Given the description of an element on the screen output the (x, y) to click on. 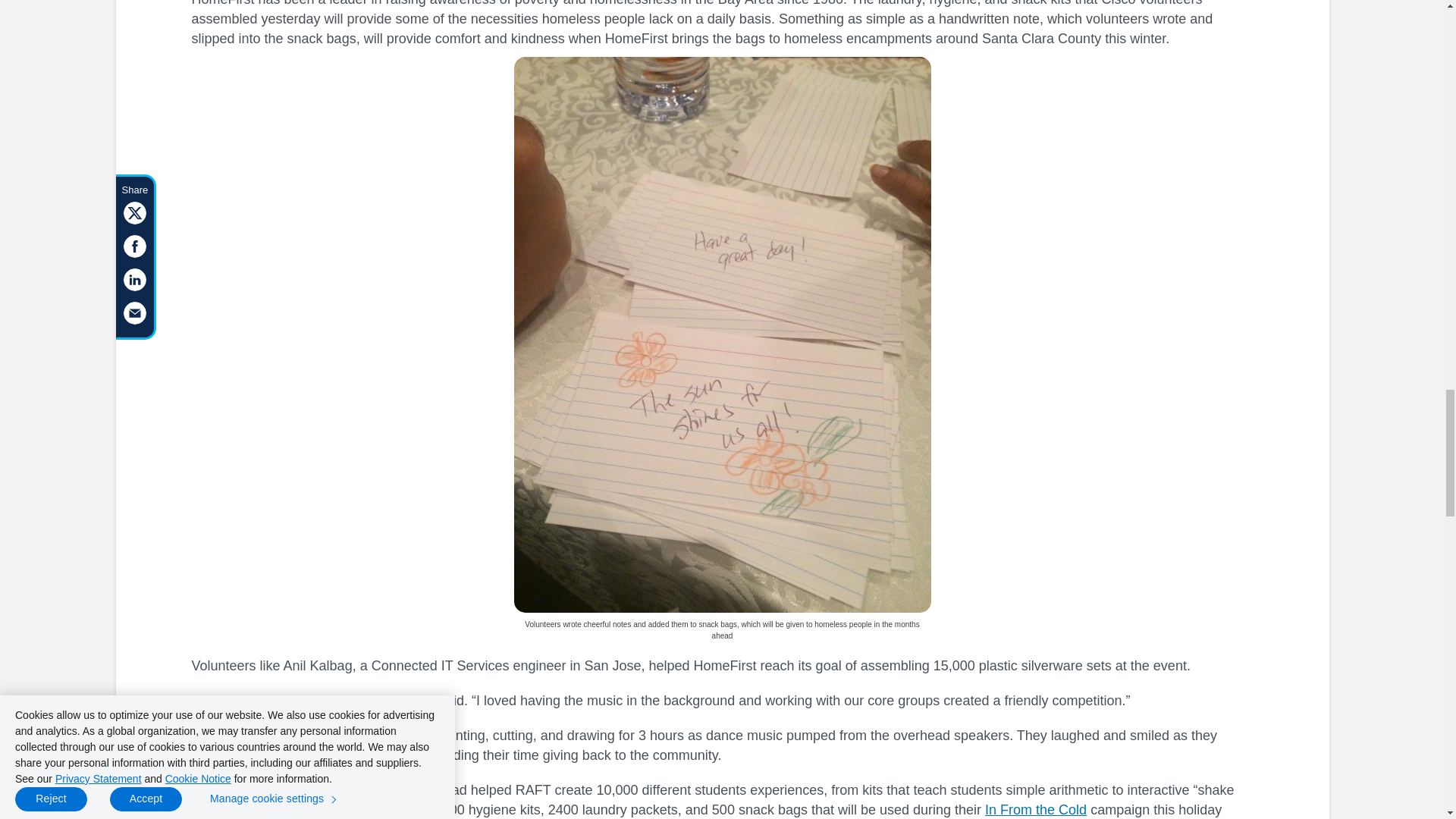
In From the Cold (1035, 809)
